Given the description of an element on the screen output the (x, y) to click on. 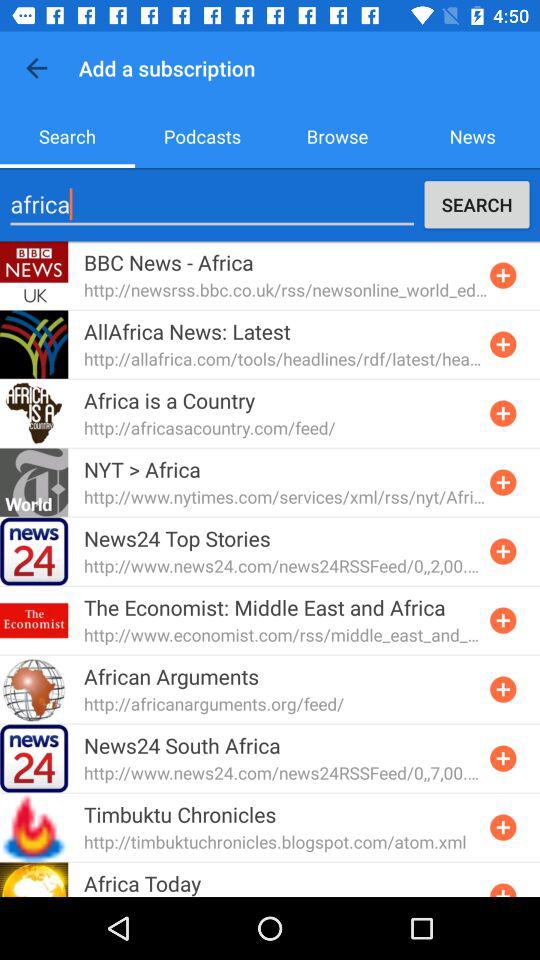
add site (503, 551)
